Given the description of an element on the screen output the (x, y) to click on. 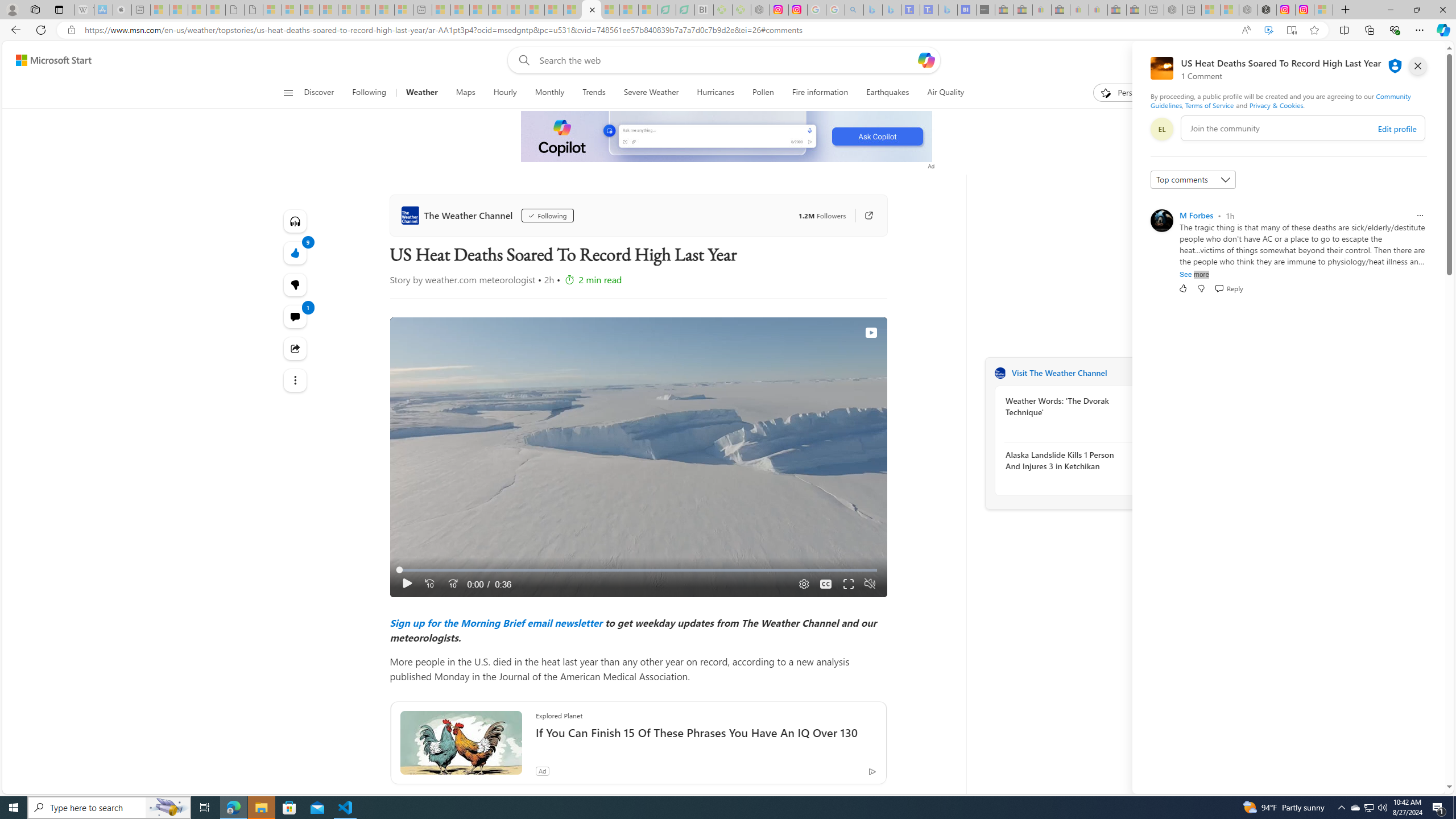
Microsoft rewards (1374, 60)
Seek Back (429, 583)
Fire information (820, 92)
Shangri-La Bangkok, Hotel reviews and Room rates - Sleeping (929, 9)
Fullscreen (848, 583)
Sign in to your Microsoft account - Sleeping (1323, 9)
LendingTree - Compare Lenders - Sleeping (684, 9)
Weather (422, 92)
